Given the description of an element on the screen output the (x, y) to click on. 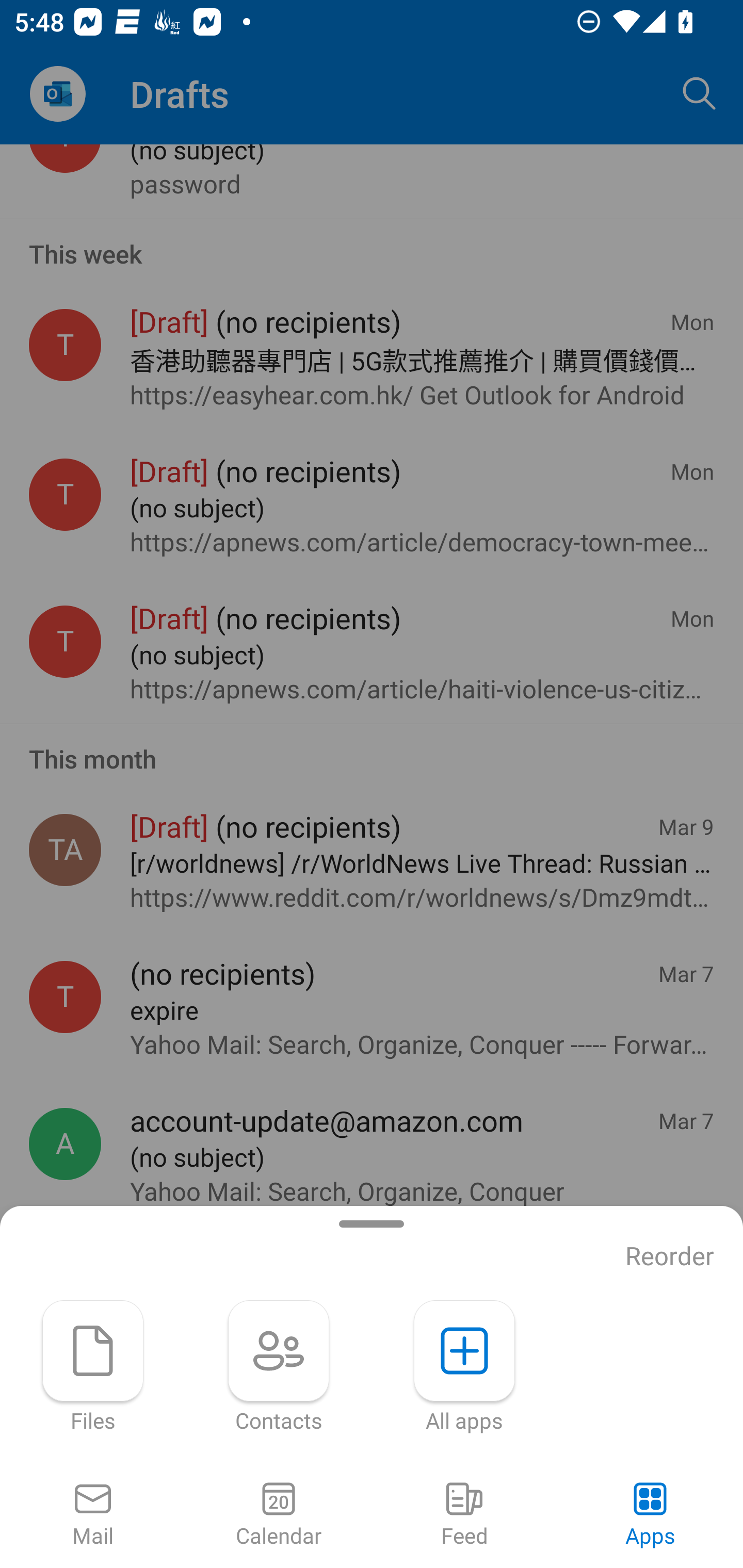
Reorder (669, 1256)
Files (92, 1366)
Contacts (278, 1366)
All apps (464, 1366)
Mail (92, 1515)
Calendar (278, 1515)
Feed (464, 1515)
